Given the description of an element on the screen output the (x, y) to click on. 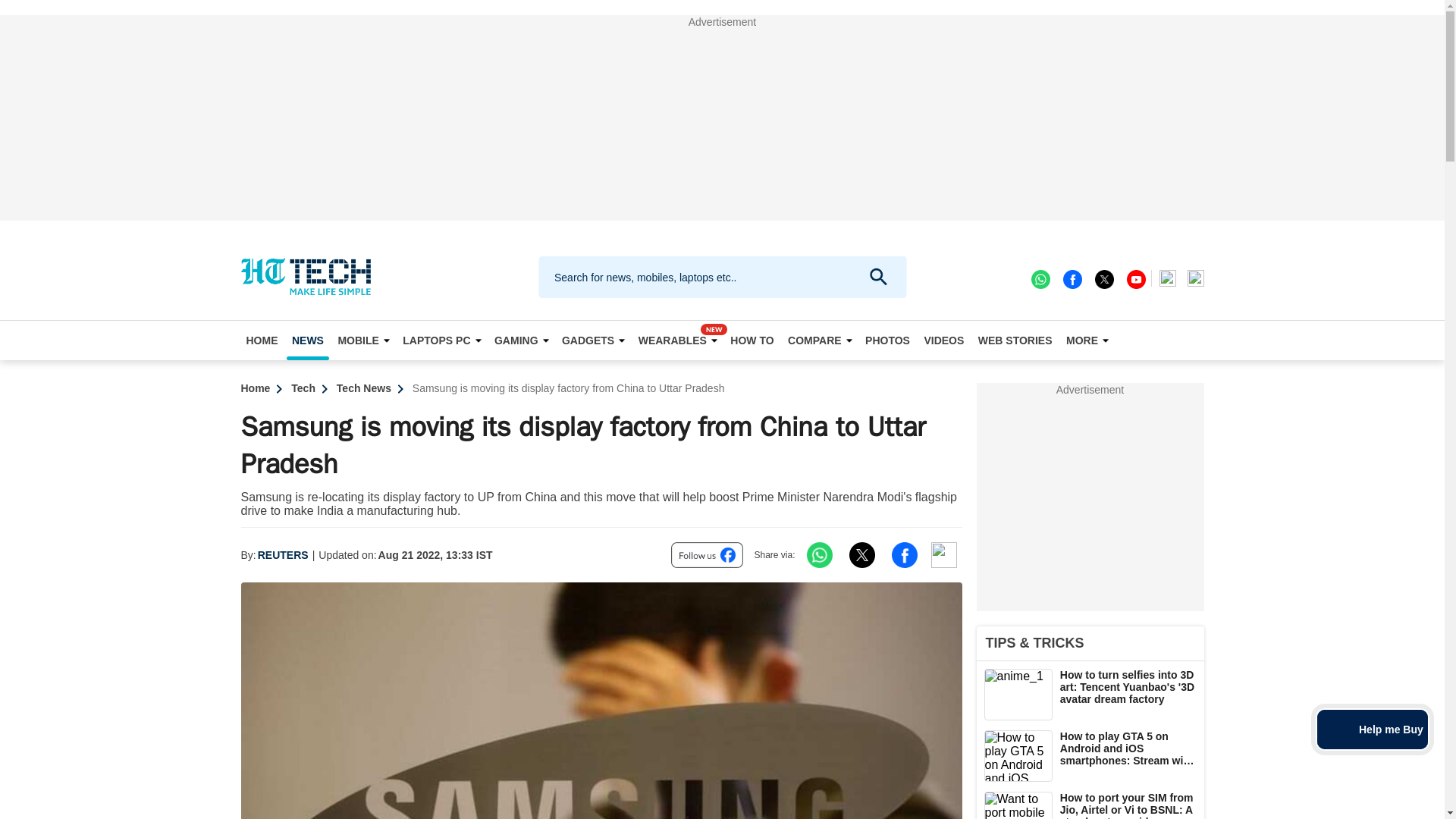
GADGETS (592, 340)
facebook (1071, 278)
GAMING (521, 340)
LAPTOPS PC (440, 340)
youtube (1134, 278)
HOW TO (751, 340)
WhatsApp channel (1039, 278)
MOBILE (362, 340)
